Given the description of an element on the screen output the (x, y) to click on. 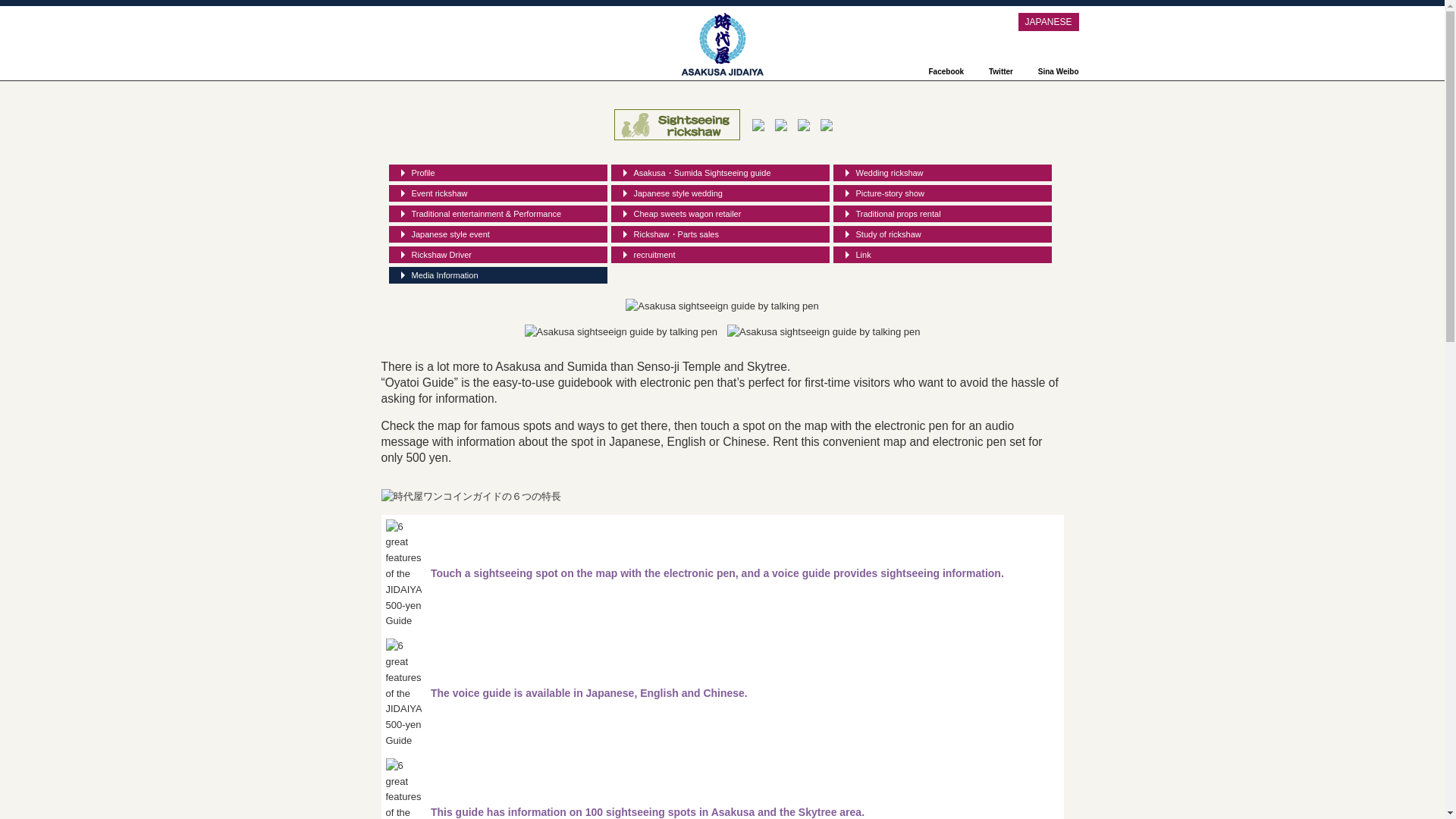
JAPANESE (1047, 22)
Picture-story show (941, 193)
Wedding rickshaw (941, 172)
Media Information (497, 274)
Facebook (938, 71)
Japanese style event (497, 234)
Traditional props rental (941, 213)
recruitment (720, 254)
Profile (497, 172)
Rickshaw Driver (497, 254)
